Given the description of an element on the screen output the (x, y) to click on. 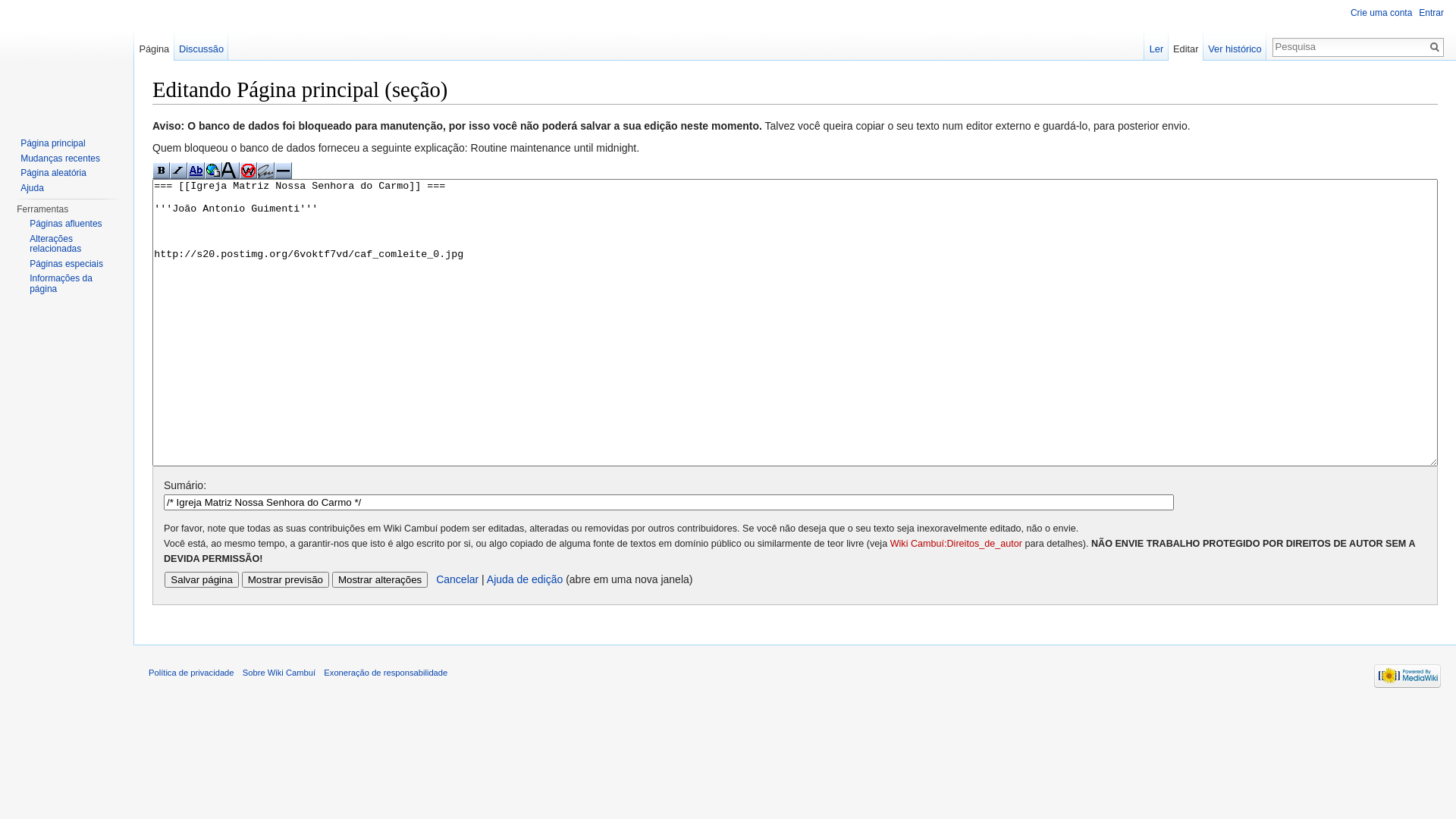
Ler Element type: text (1155, 45)
Texto em negrito Element type: hover (160, 170)
Entrar Element type: text (1430, 12)
Ir Element type: text (1434, 46)
Cancelar Element type: text (457, 579)
Link externo (lembre-se do prefixo http://) Element type: hover (213, 170)
Sua assinatura, com hora e data Element type: hover (265, 170)
Editar Element type: text (1185, 45)
Ajuda Element type: text (31, 187)
Crie uma conta Element type: text (1381, 12)
Linha horizontal (use de forma moderada) Element type: hover (282, 170)
Link interno Element type: hover (195, 170)
